Given the description of an element on the screen output the (x, y) to click on. 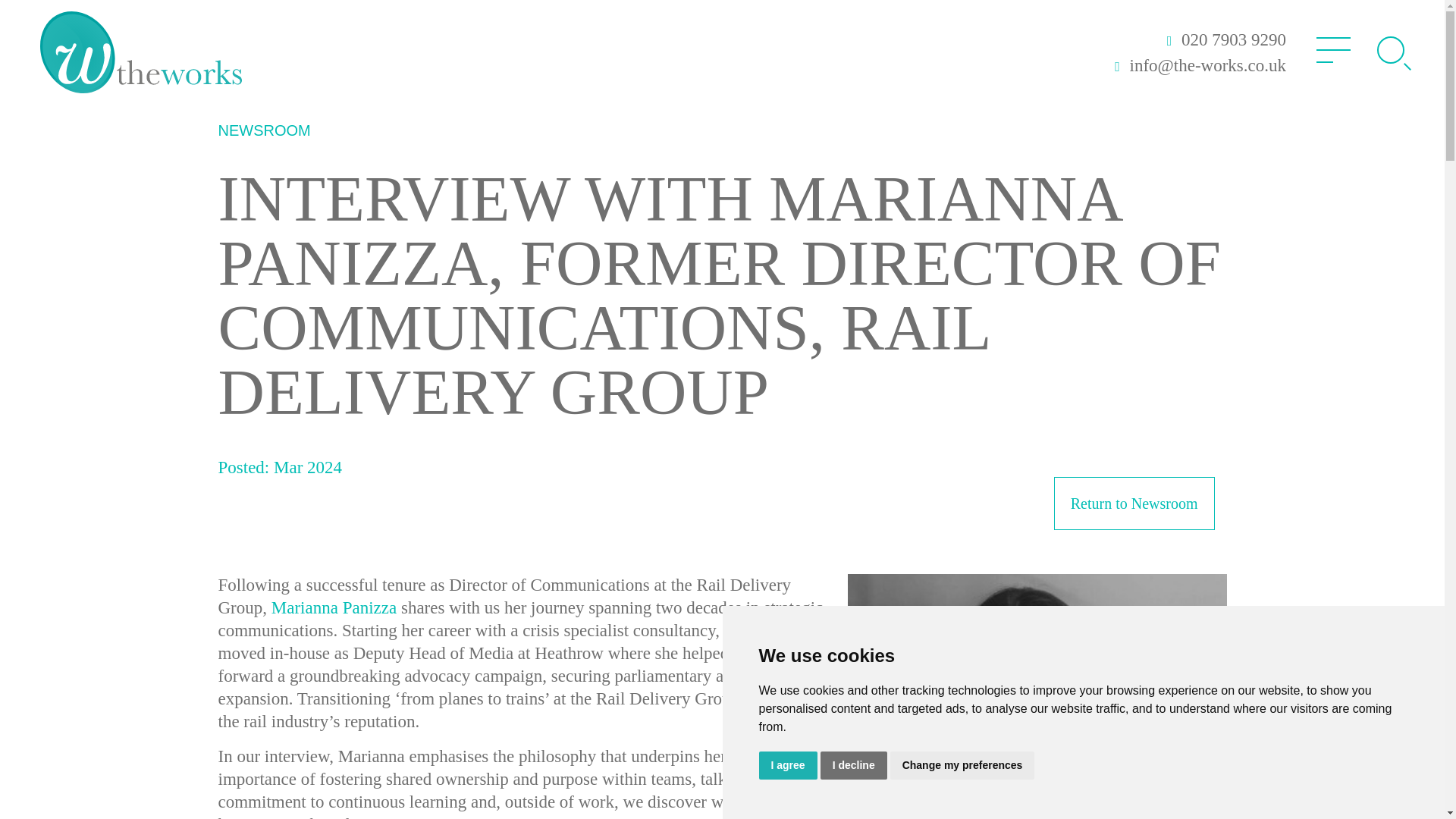
I decline (853, 765)
Change my preferences (962, 765)
Marianna Panizza (333, 608)
I agree (787, 765)
Return to Newsroom (1134, 502)
020 7903 9290 (1223, 40)
